Given the description of an element on the screen output the (x, y) to click on. 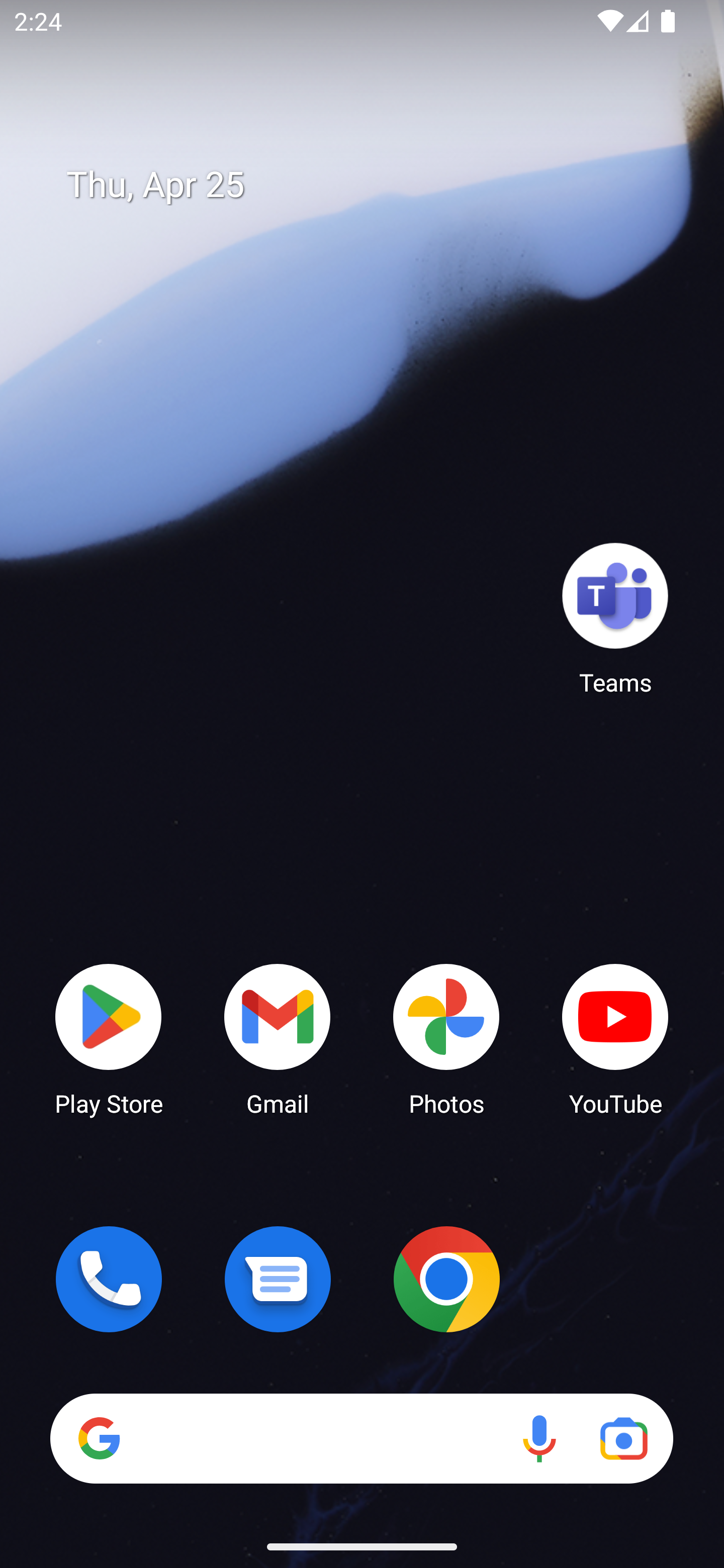
Thu, Apr 25 (375, 184)
Teams (615, 617)
Play Store (108, 1038)
Gmail (277, 1038)
Photos (445, 1038)
YouTube (615, 1038)
Phone (108, 1279)
Messages (277, 1279)
Chrome (446, 1279)
Search Voice search Google Lens (361, 1438)
Voice search (539, 1438)
Google Lens (623, 1438)
